Given the description of an element on the screen output the (x, y) to click on. 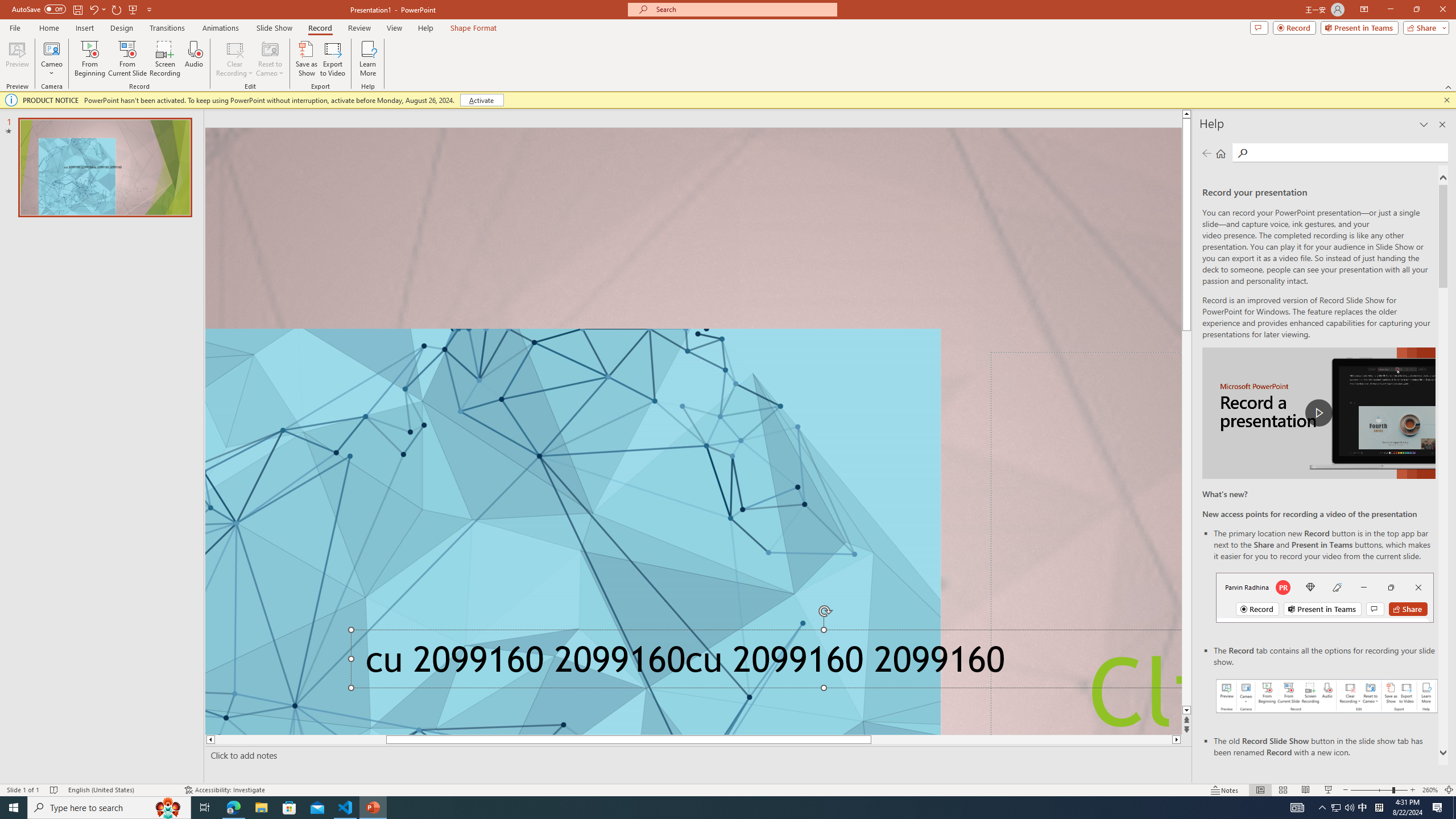
Export to Video (332, 58)
Learn More (368, 58)
play Record a Presentation (1318, 412)
Close this message (1446, 99)
